Given the description of an element on the screen output the (x, y) to click on. 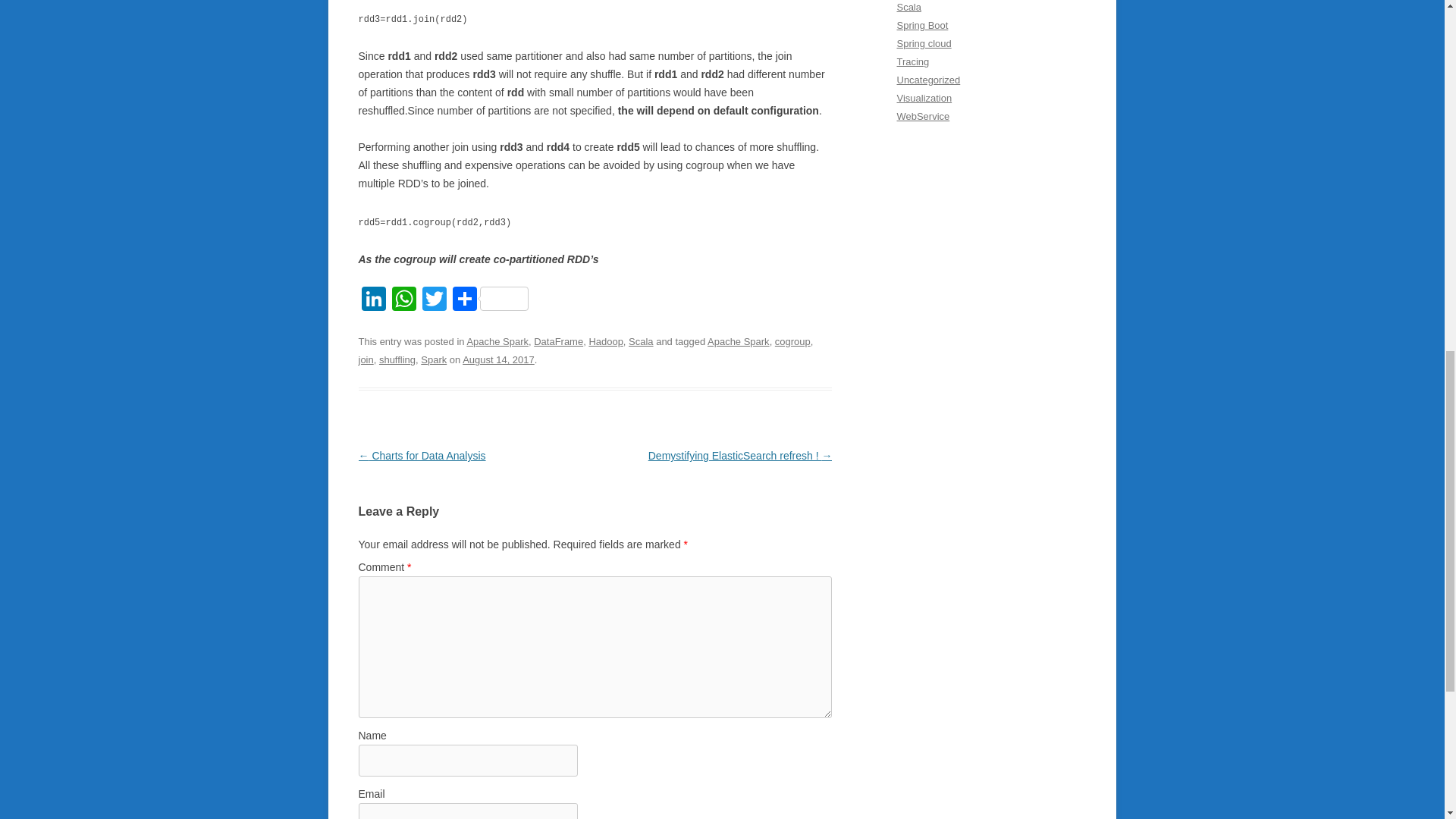
Scala (640, 341)
Hadoop (605, 341)
5:32 pm (498, 359)
Twitter (433, 300)
shuffling (396, 359)
Apache Spark (738, 341)
LinkedIn (373, 300)
Apache Spark (496, 341)
join (365, 359)
Twitter (433, 300)
Spark (433, 359)
WhatsApp (403, 300)
DataFrame (558, 341)
LinkedIn (373, 300)
August 14, 2017 (498, 359)
